Given the description of an element on the screen output the (x, y) to click on. 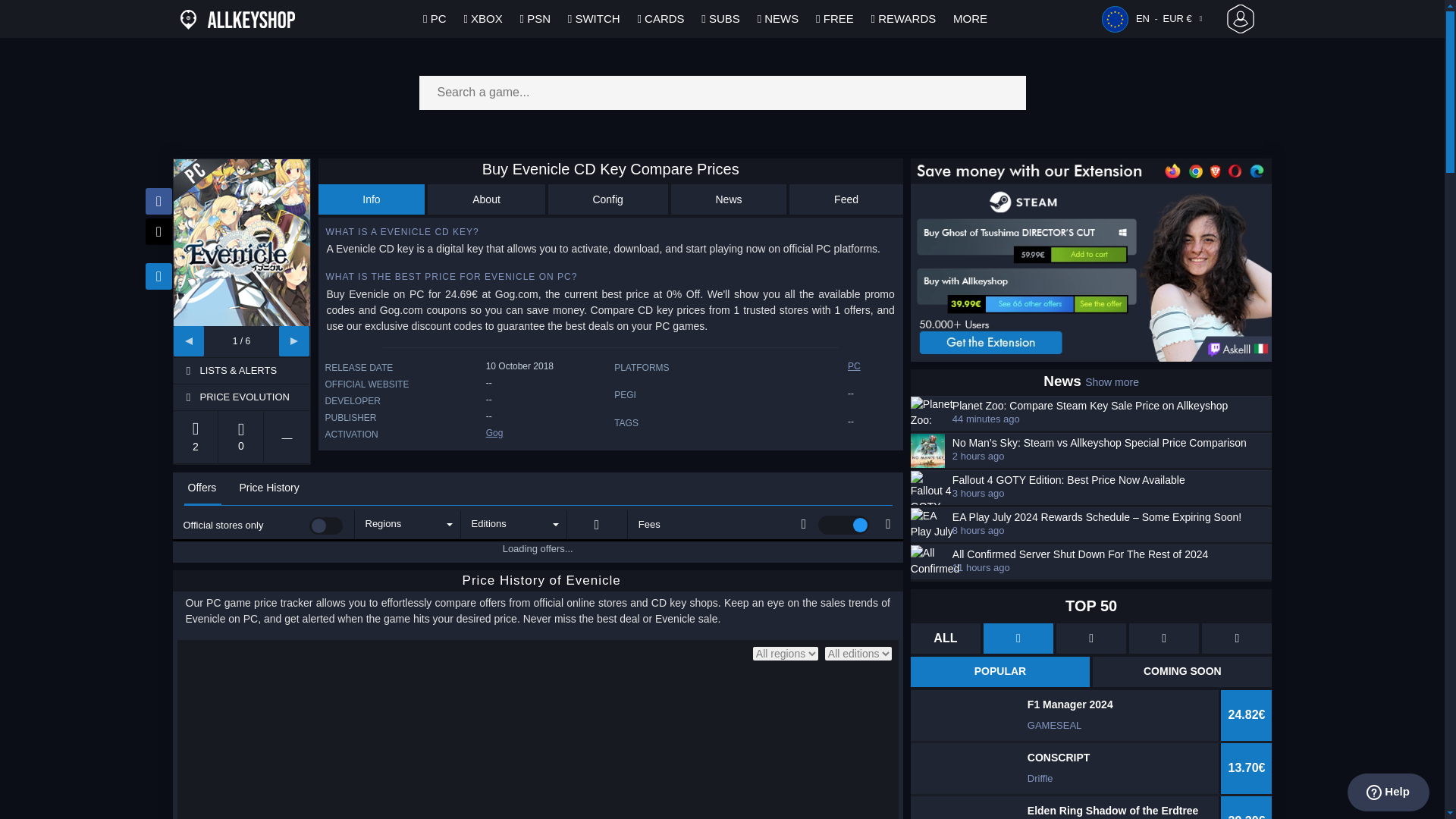
SWITCH (594, 18)
PSN (535, 18)
Show more (1111, 381)
Planet Zoo: Compare Steam Key Sale Price on Allkeyshop (1110, 405)
Price evolution (252, 396)
Gog keys (494, 432)
XBOX (482, 18)
